Given the description of an element on the screen output the (x, y) to click on. 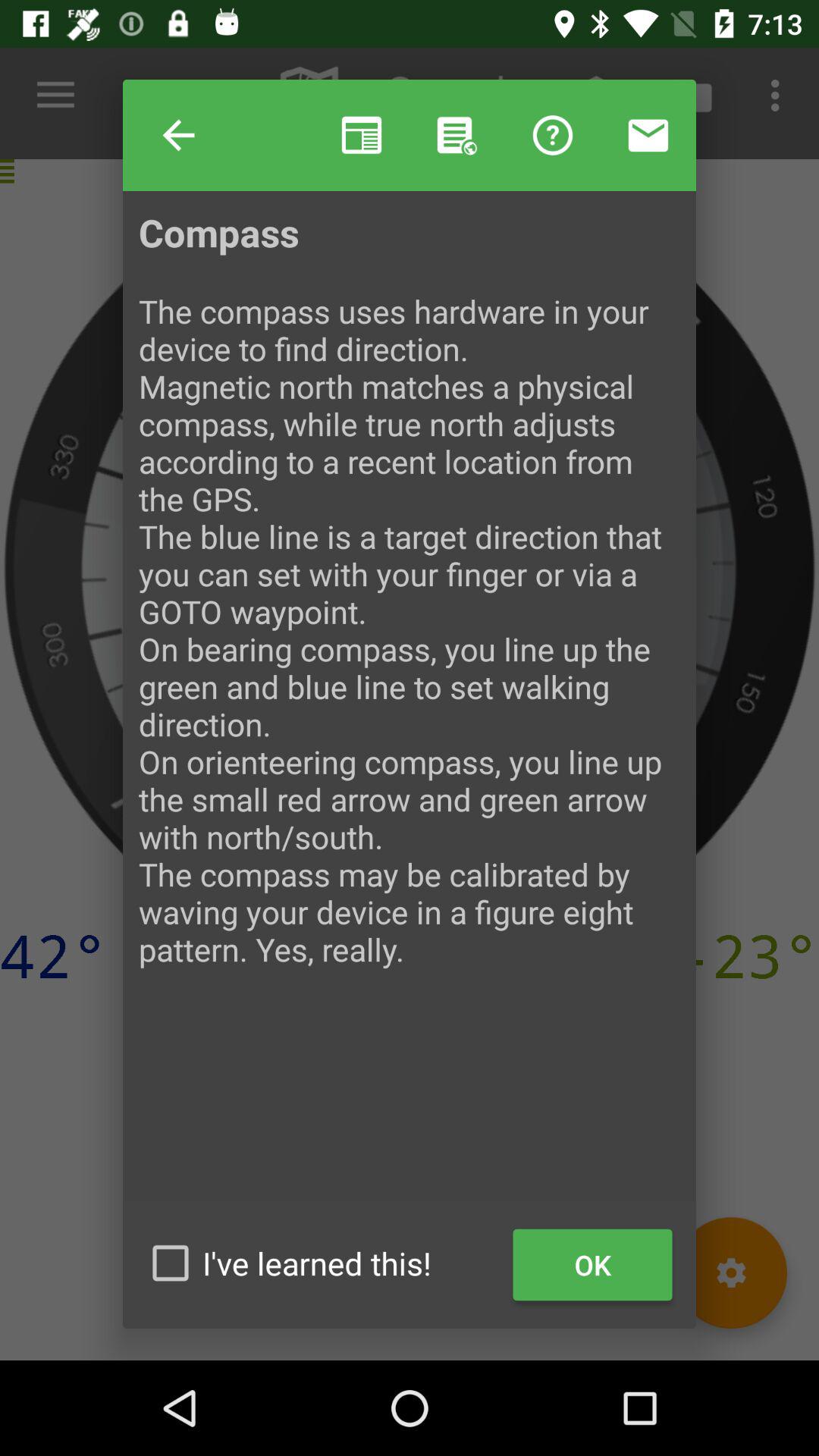
select the item below compass the compass (592, 1264)
